Given the description of an element on the screen output the (x, y) to click on. 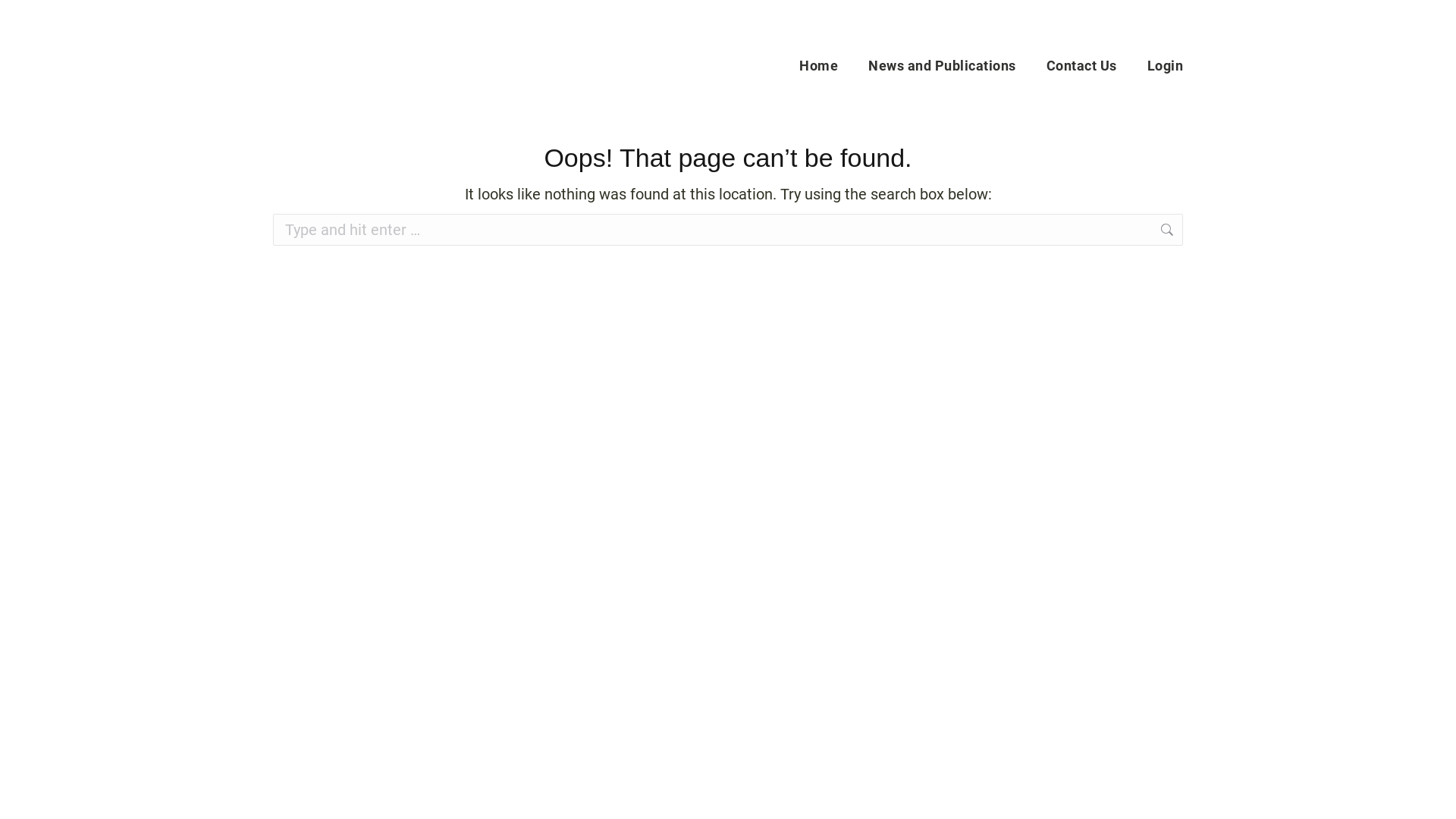
Contact Us Element type: text (1081, 65)
Login Element type: text (1164, 65)
Go! Element type: text (1206, 230)
News and Publications Element type: text (942, 65)
Home Element type: text (818, 65)
